Given the description of an element on the screen output the (x, y) to click on. 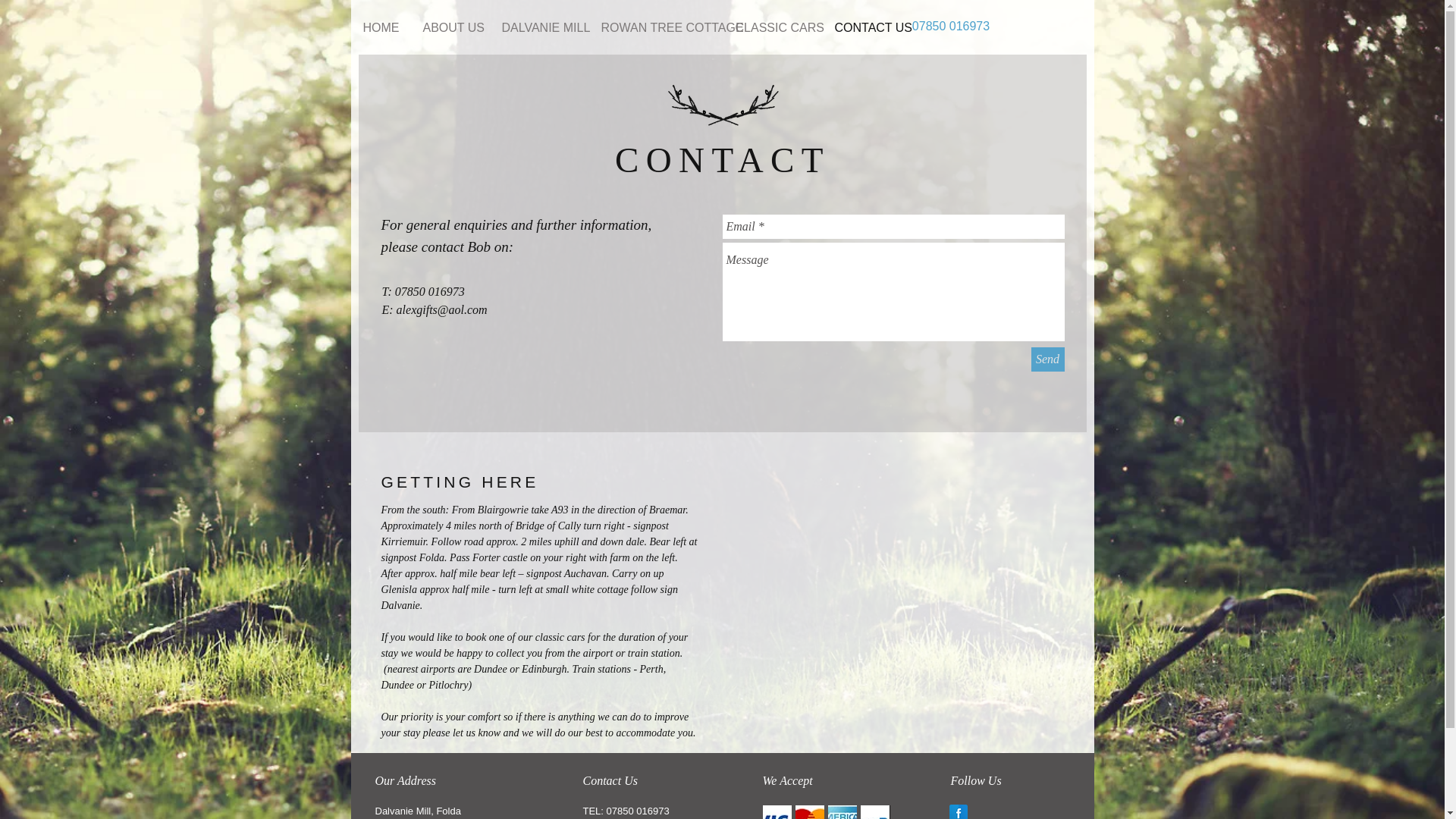
HOME (381, 27)
ROWAN TREE COTTAGE (655, 27)
CONTACT US (866, 27)
ABOUT US (449, 27)
Send (1047, 359)
DALVANIE MILL (539, 27)
CLASSIC CARS (772, 27)
